Given the description of an element on the screen output the (x, y) to click on. 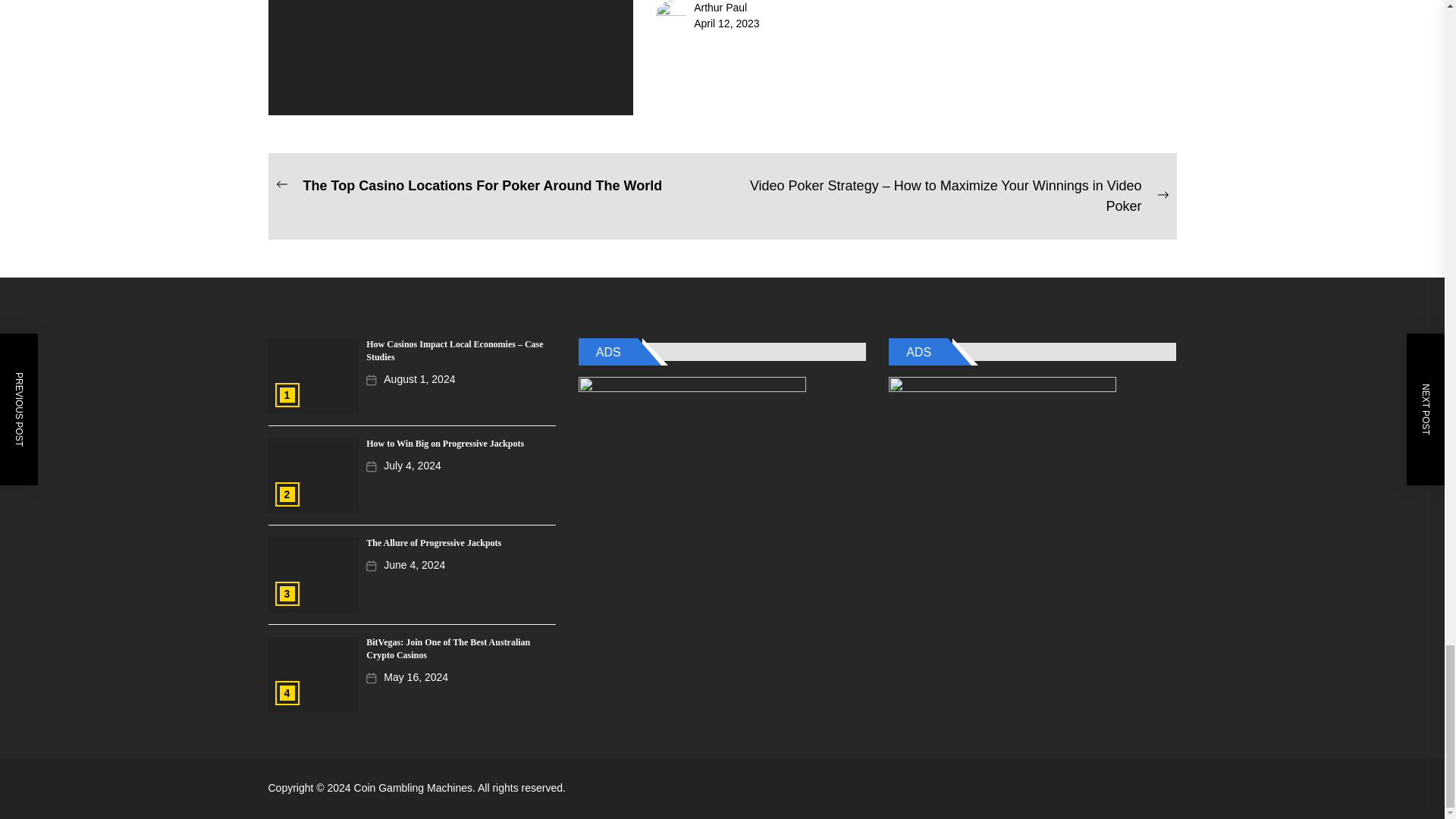
The Allure of Progressive Jackpots (433, 542)
How to Win Big on Progressive Jackpots (445, 443)
Coin Gambling Machines (415, 787)
Arthur Paul (720, 7)
BitVegas: Join One of The Best Australian Crypto Casinos (447, 648)
